Given the description of an element on the screen output the (x, y) to click on. 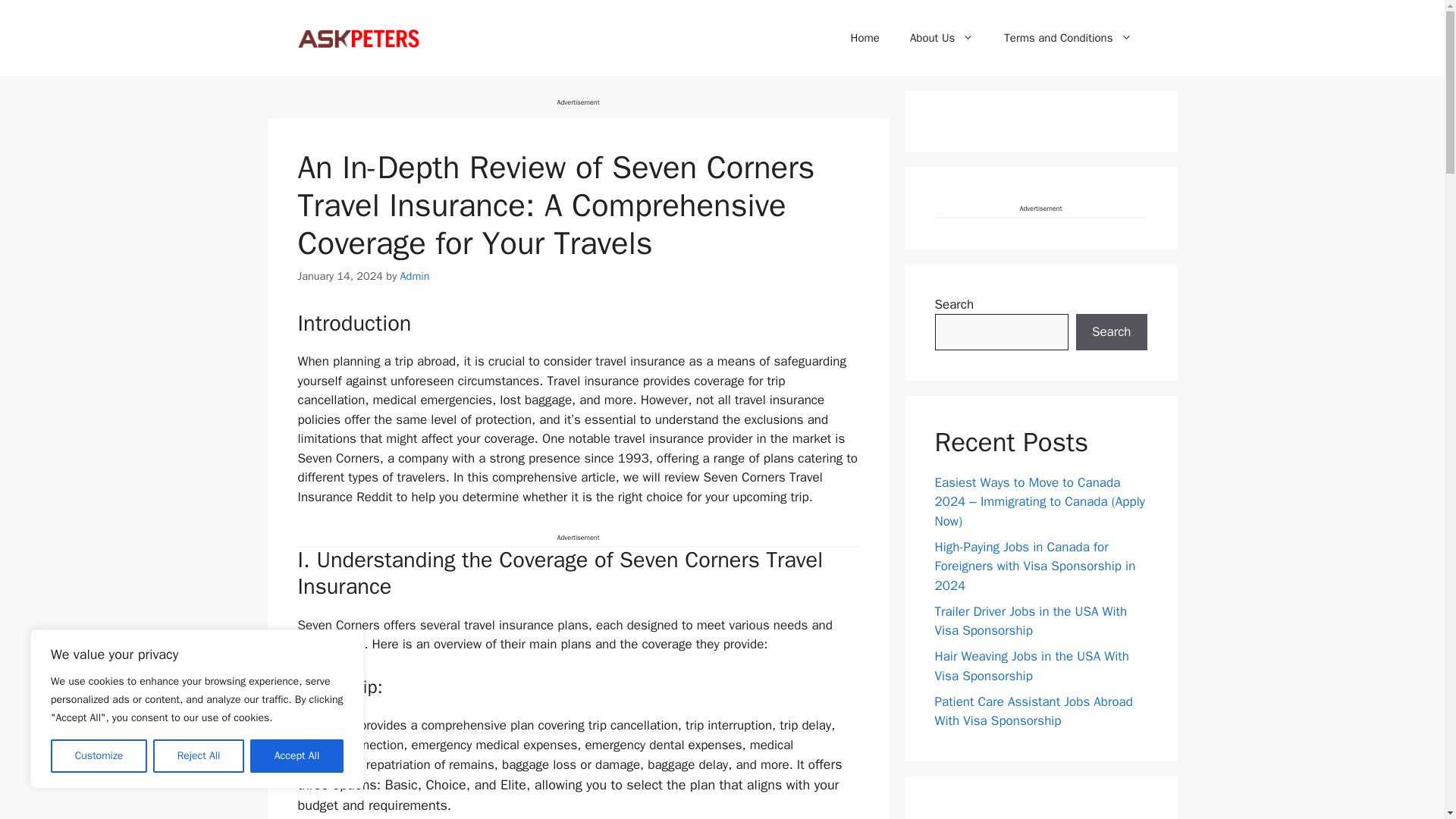
Home (865, 37)
View all posts by Admin (414, 275)
Terms and Conditions (1067, 37)
Admin (414, 275)
Accept All (296, 756)
Customize (98, 756)
Reject All (198, 756)
About Us (941, 37)
